Given the description of an element on the screen output the (x, y) to click on. 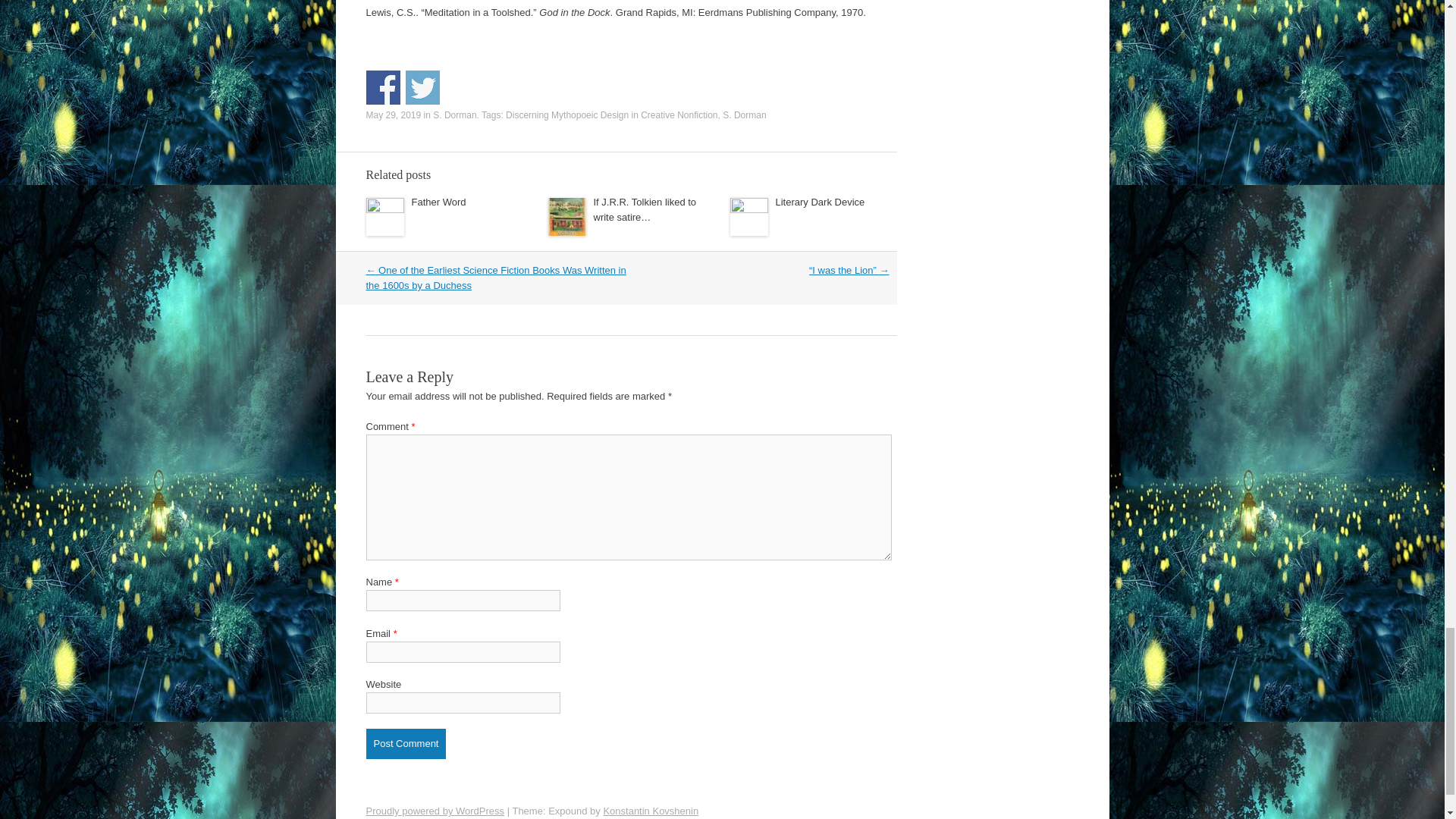
Share on Twitter (421, 87)
Post Comment (405, 743)
Permalink to Literary Dark Device (819, 202)
May 29, 2019 (392, 114)
Discerning Mythopoeic Design in Creative Nonfiction (611, 114)
Post Comment (405, 743)
Share on Facebook (381, 87)
Permalink to Father Word (437, 202)
Proudly powered by WordPress (434, 810)
S. Dorman (743, 114)
